Given the description of an element on the screen output the (x, y) to click on. 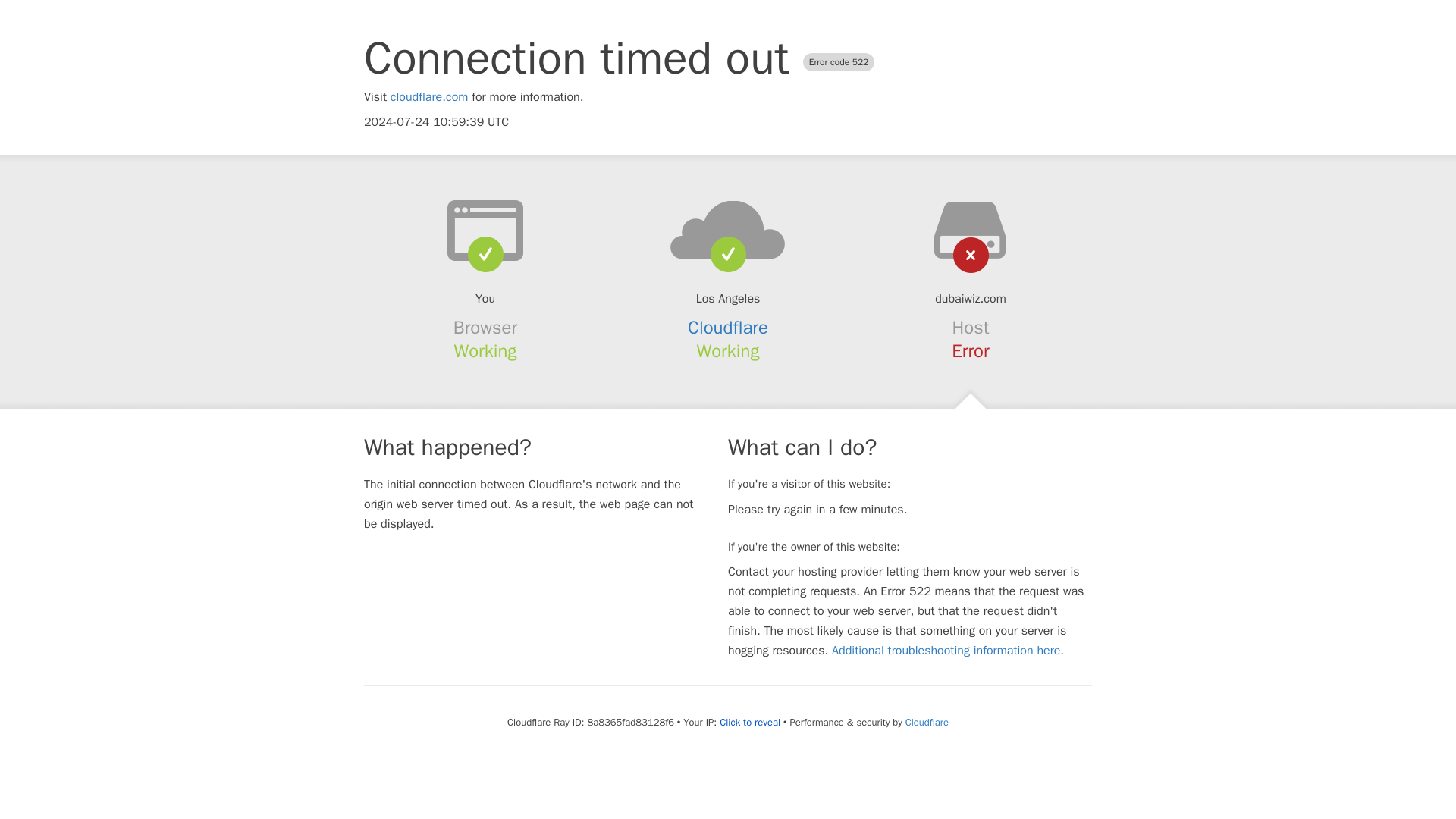
Additional troubleshooting information here. (947, 650)
Click to reveal (749, 722)
cloudflare.com (429, 96)
Cloudflare (727, 327)
Cloudflare (927, 721)
